Given the description of an element on the screen output the (x, y) to click on. 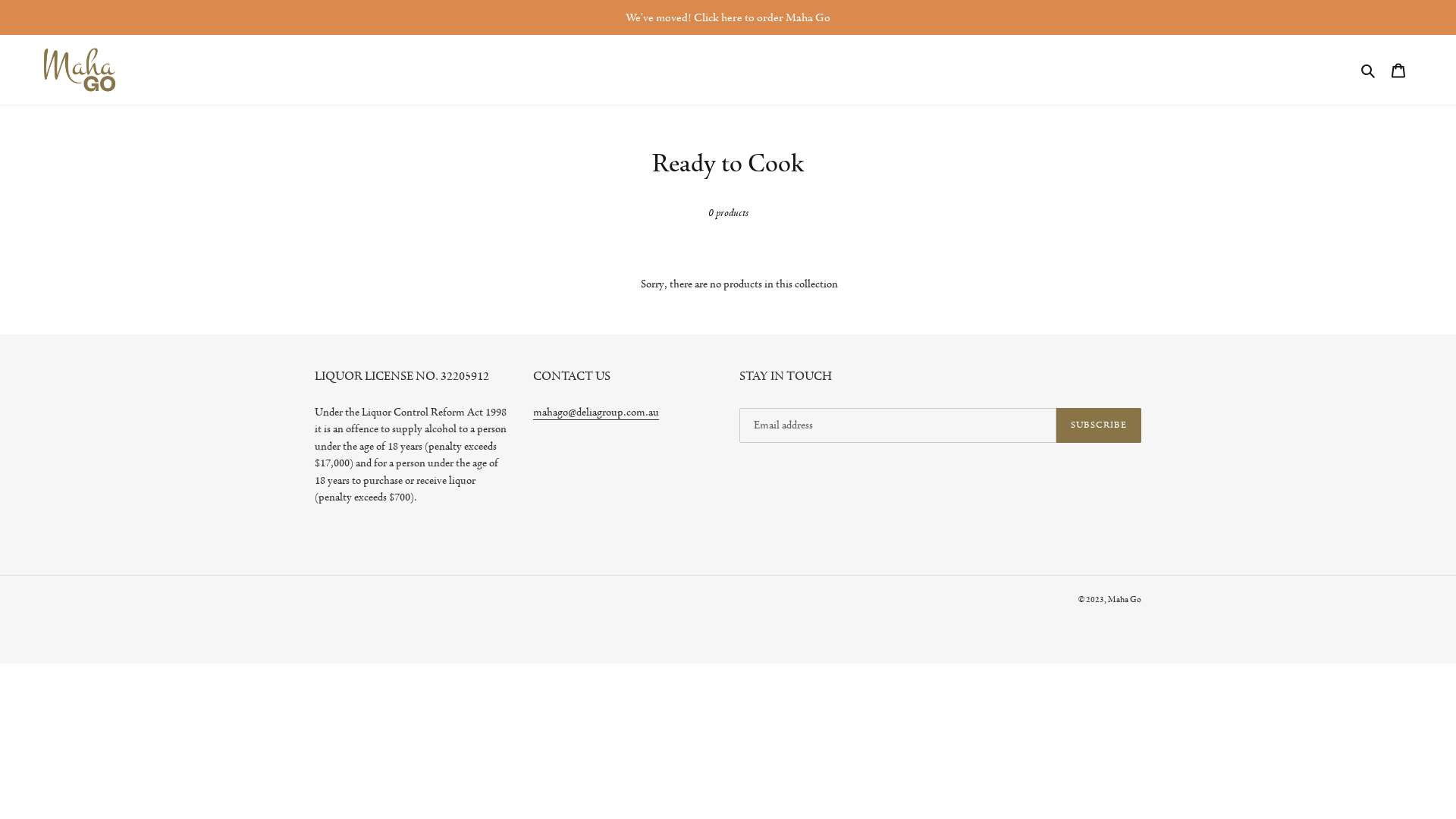
mahago@deliagroup.com.au Element type: text (595, 412)
Search Element type: text (1368, 69)
Maha Go Element type: text (1124, 599)
SUBSCRIBE Element type: text (1098, 424)
Cart Element type: text (1398, 69)
